Given the description of an element on the screen output the (x, y) to click on. 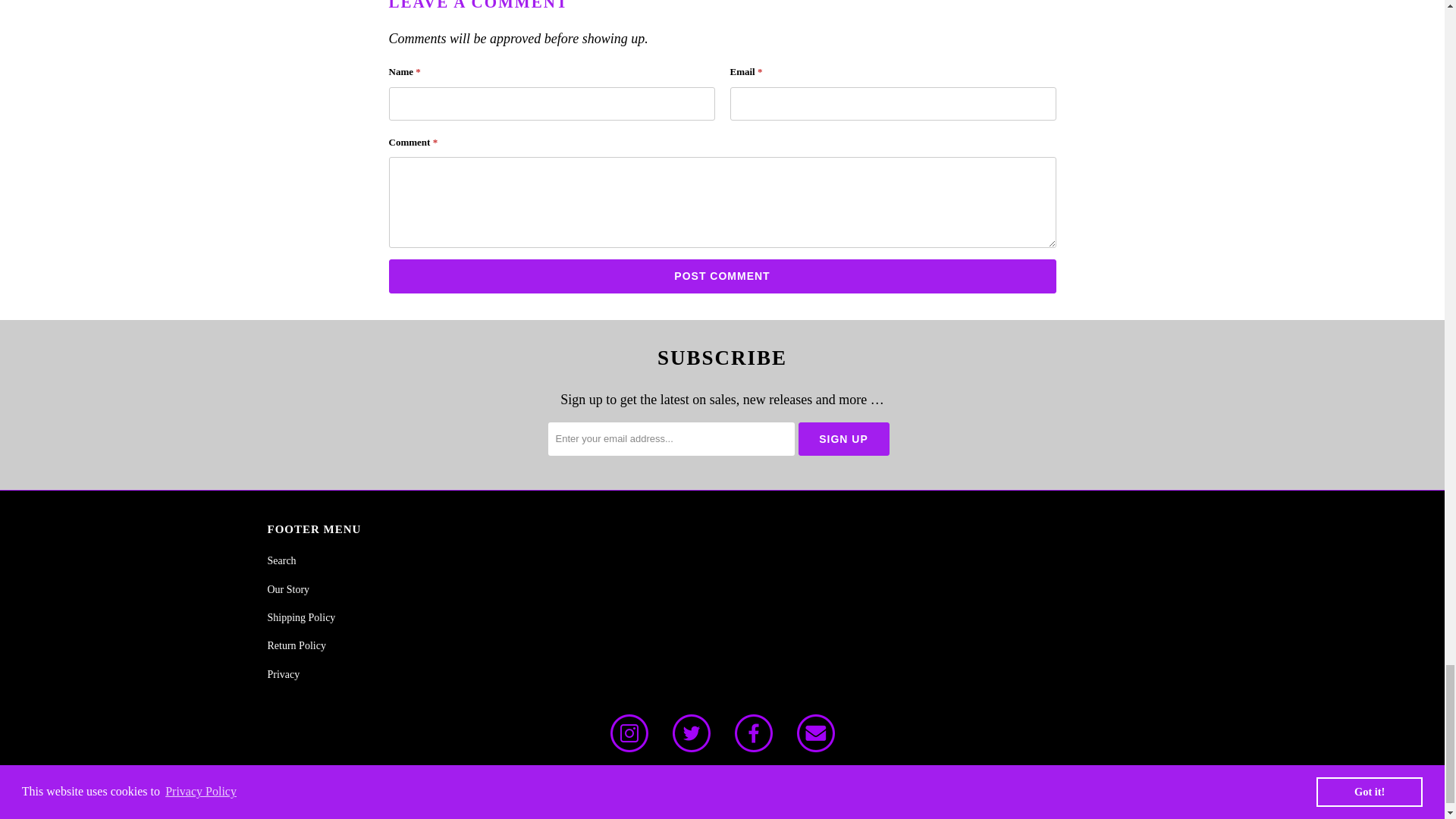
Sign Up (842, 438)
Post comment (721, 276)
